Given the description of an element on the screen output the (x, y) to click on. 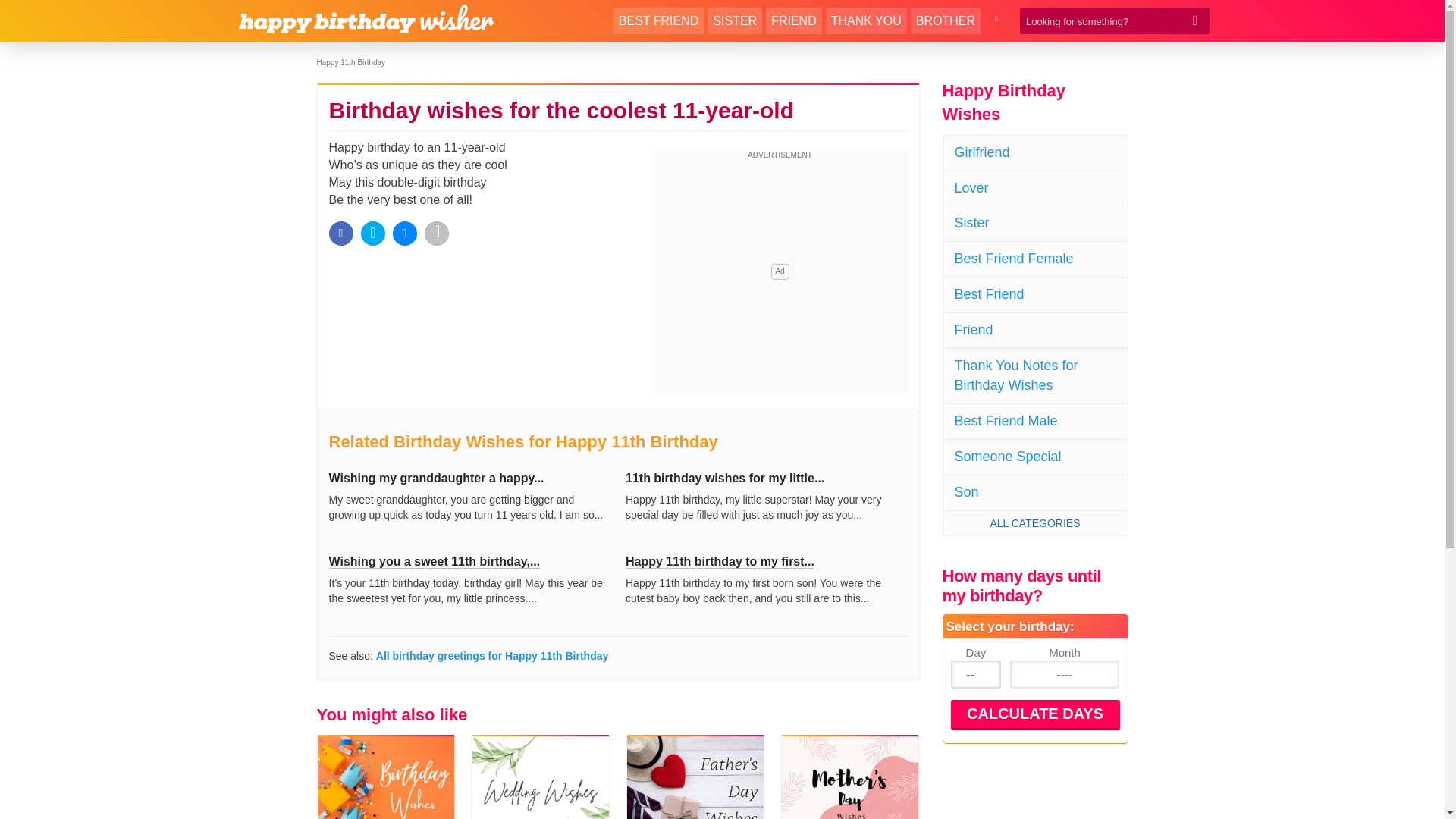
BROTHER (945, 20)
THANK YOU (866, 20)
Tweet (373, 233)
11th birthday wishes for my little... (725, 478)
Happy 11th Birthday (351, 62)
SISTER (734, 20)
Wishing you a sweet 11th birthday,... (434, 561)
All birthday greetings for Happy 11th Birthday (491, 655)
Happy 11th birthday to my first... (719, 561)
Wishing my granddaughter a happy... (436, 478)
